Given the description of an element on the screen output the (x, y) to click on. 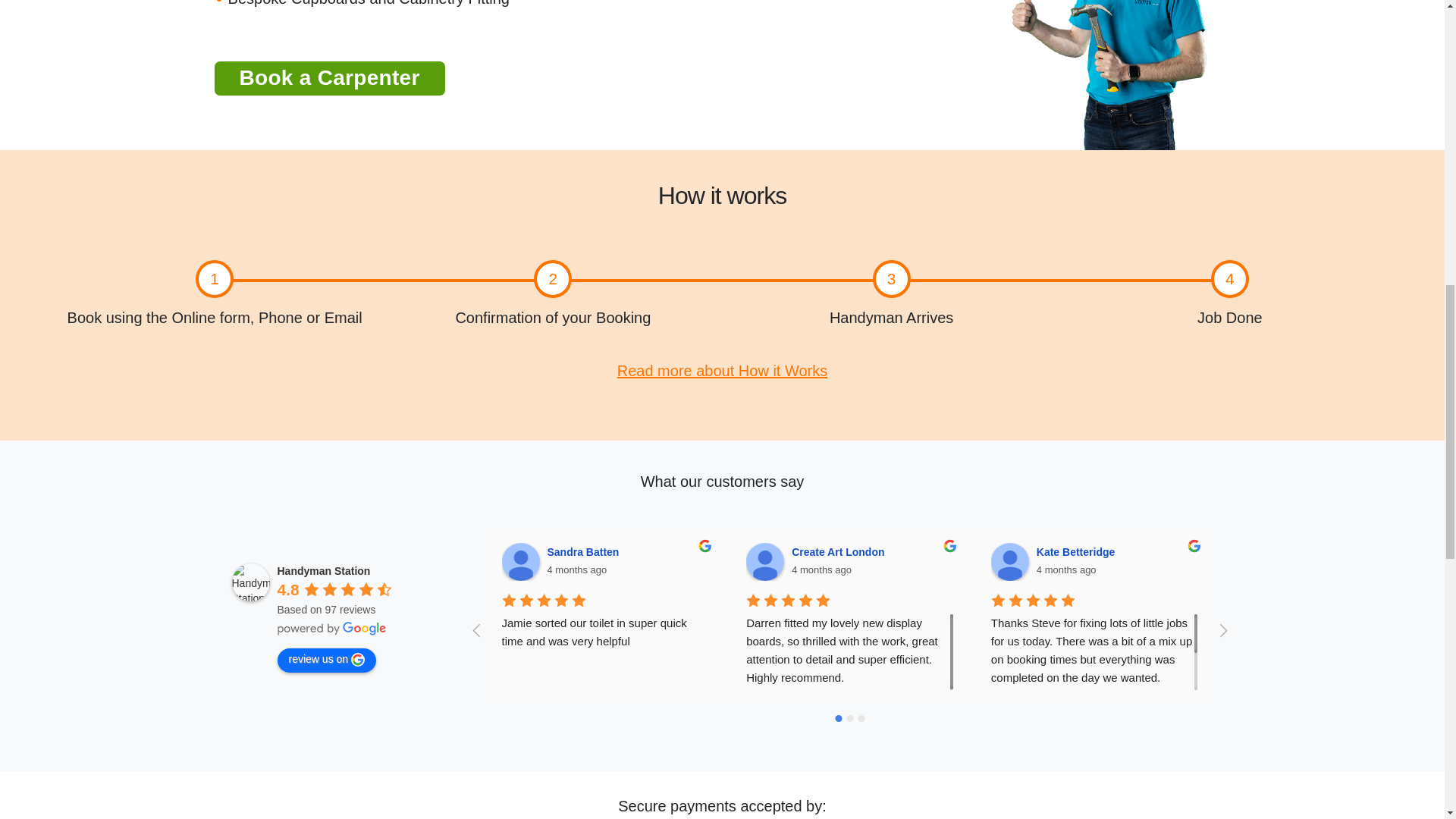
K N L (1253, 561)
Sandra Batten (521, 561)
Create Art London (764, 561)
powered by Google (332, 628)
Kate Betteridge (1010, 561)
Handyman Station (250, 582)
